Given the description of an element on the screen output the (x, y) to click on. 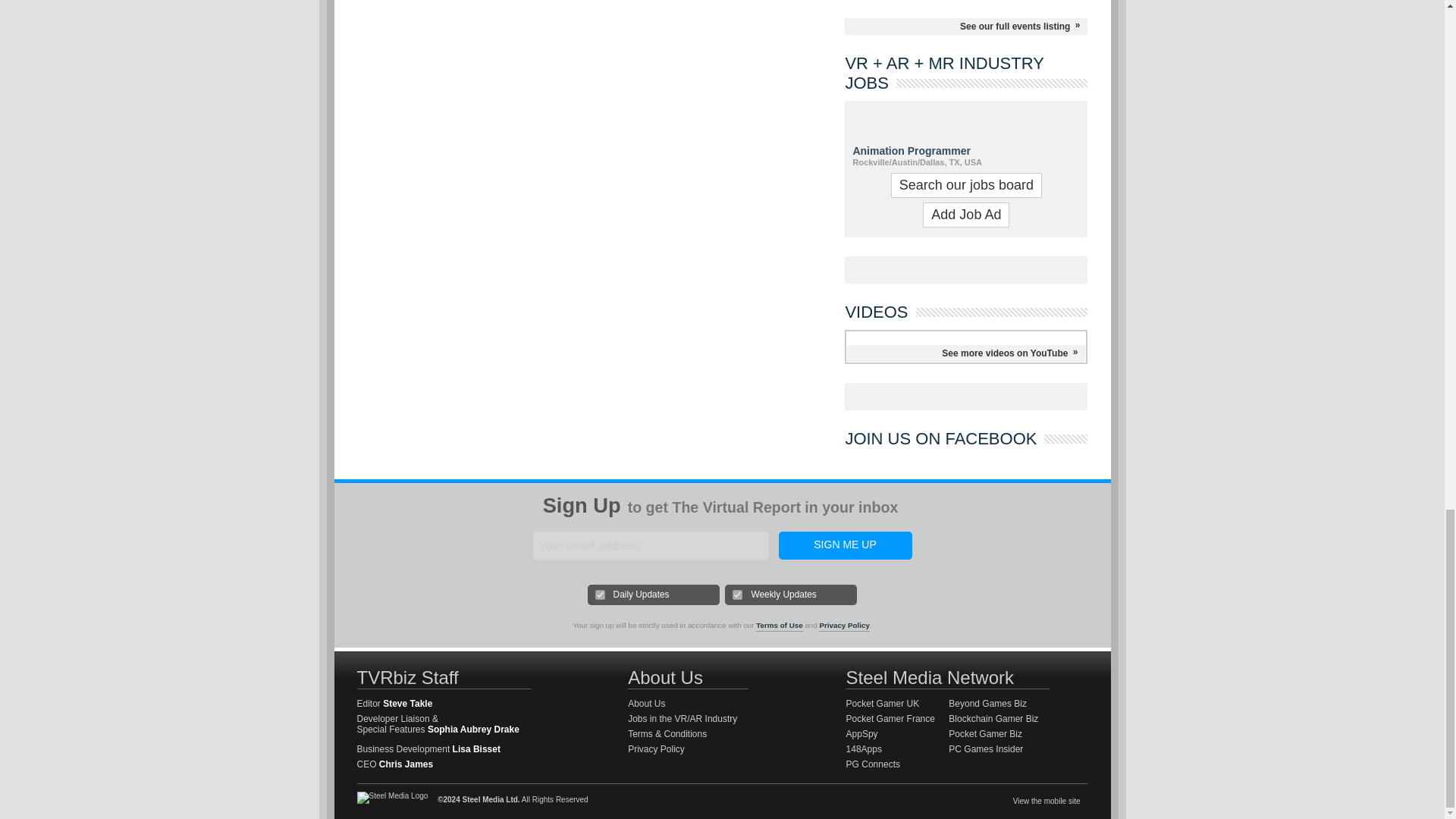
SIGN ME UP (844, 545)
1 (600, 594)
2 (737, 594)
